Given the description of an element on the screen output the (x, y) to click on. 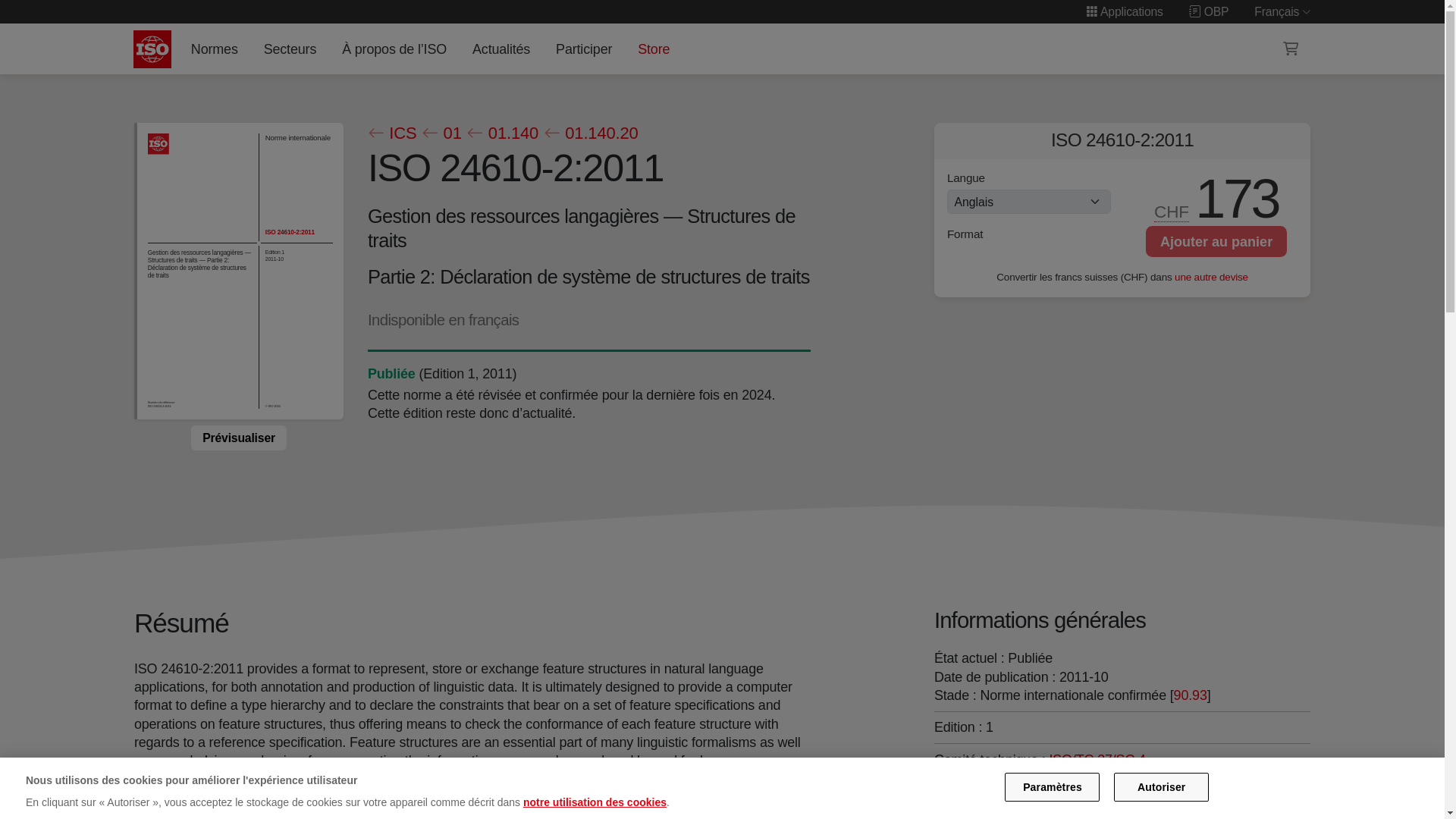
une autre devise (1210, 276)
ICS (391, 133)
Ajouter au panier (1217, 241)
01.140.20 (997, 777)
Store (654, 48)
90.93 (1190, 694)
Sciences de l'information (997, 777)
Cycle de vie (390, 372)
Organisation internationale de normalisation (152, 48)
Plateforme de consultation en ligne (1208, 11)
01.140 (501, 133)
Gestion des ressources linguistiques (1097, 758)
 OBP (1208, 11)
Portail des applications de l'ISO (1124, 11)
90.93 (1190, 694)
